Given the description of an element on the screen output the (x, y) to click on. 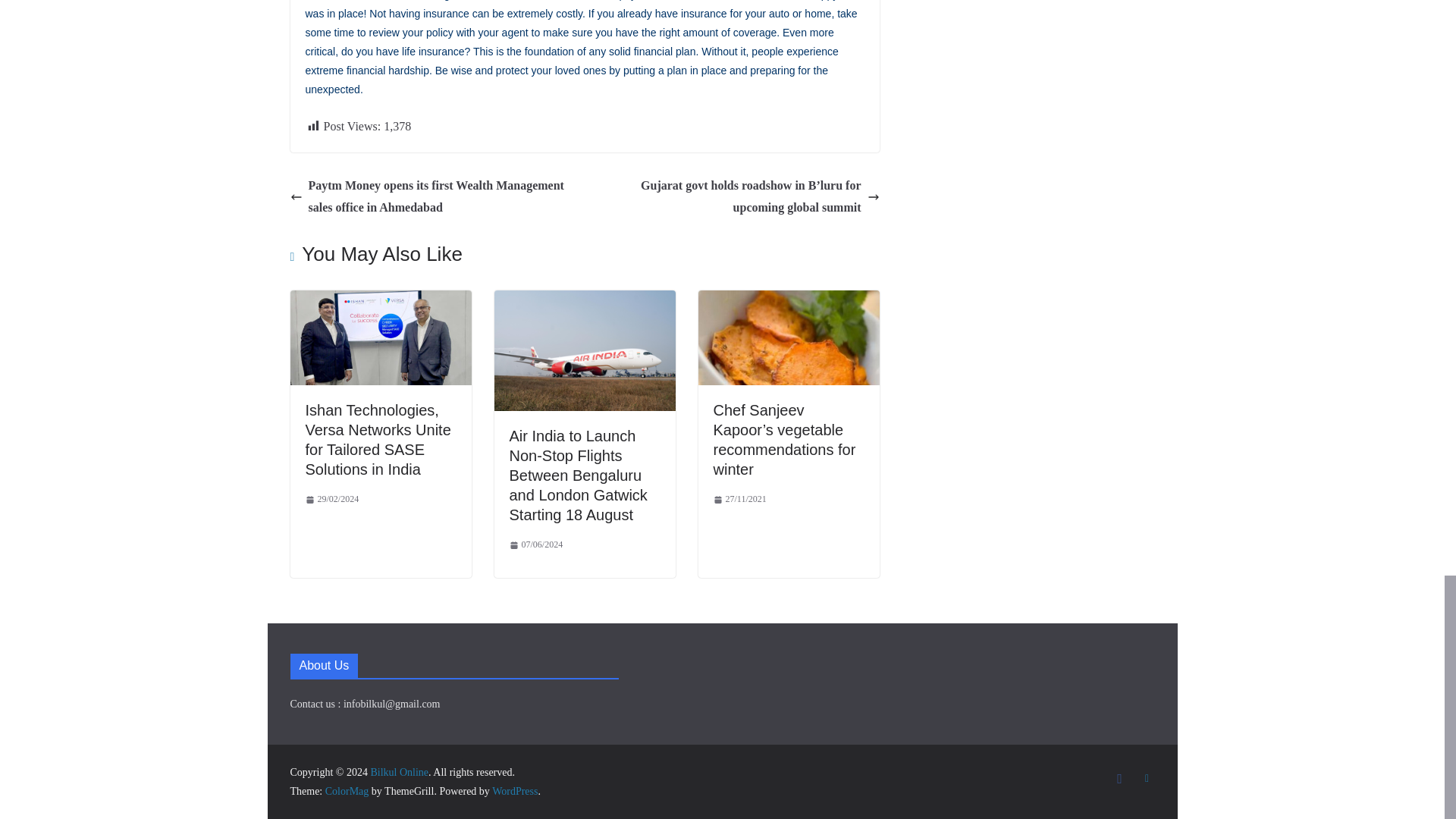
5:25 pm (331, 499)
